Given the description of an element on the screen output the (x, y) to click on. 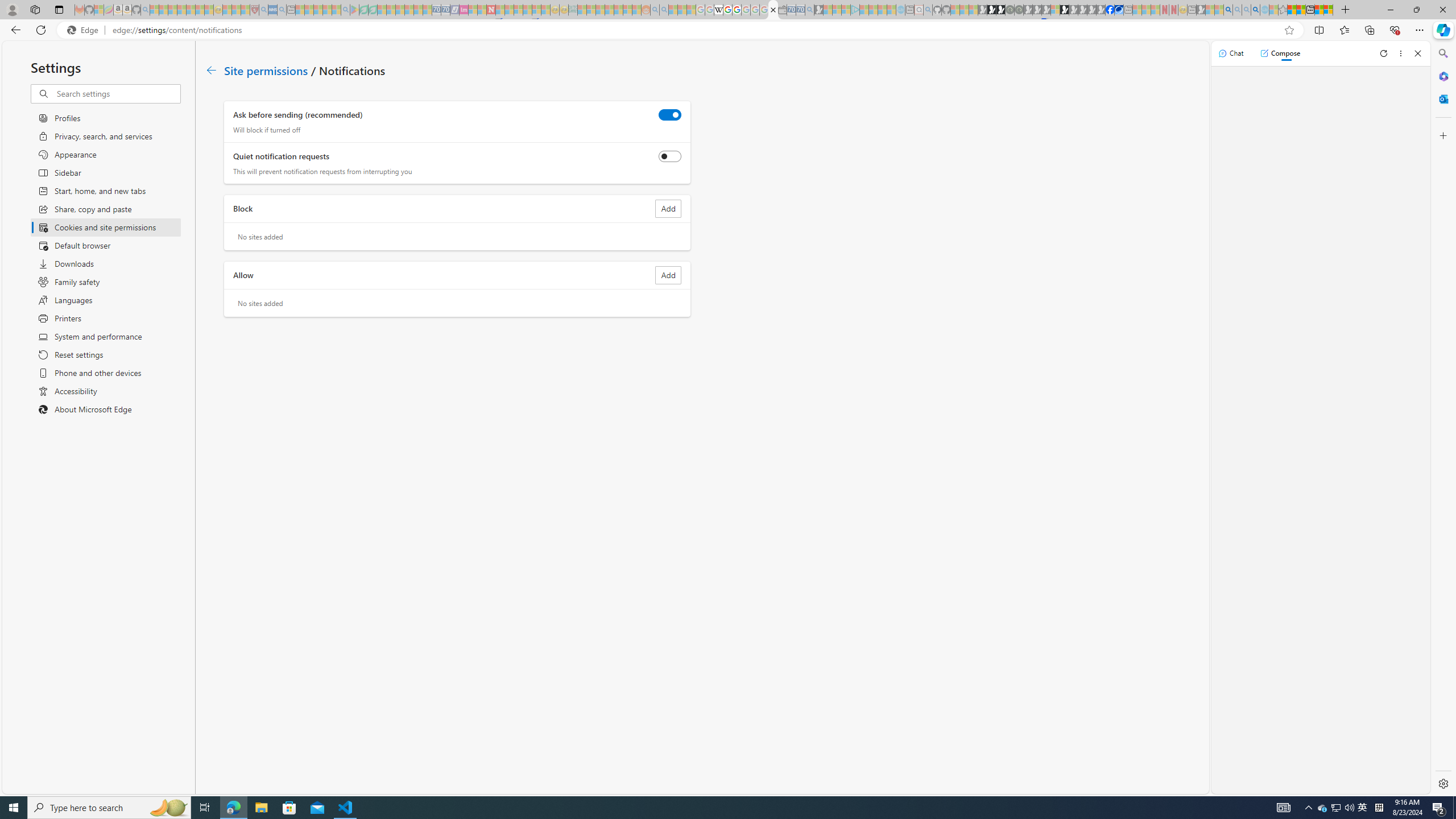
utah sues federal government - Search - Sleeping (281, 9)
Quiet notification requests (669, 156)
Add site to Block list (668, 208)
Play Zoo Boom in your browser | Games from Microsoft Start (991, 9)
Compose (1279, 52)
Side bar (1443, 418)
The Weather Channel - MSN - Sleeping (172, 9)
Search settings (117, 93)
